Given the description of an element on the screen output the (x, y) to click on. 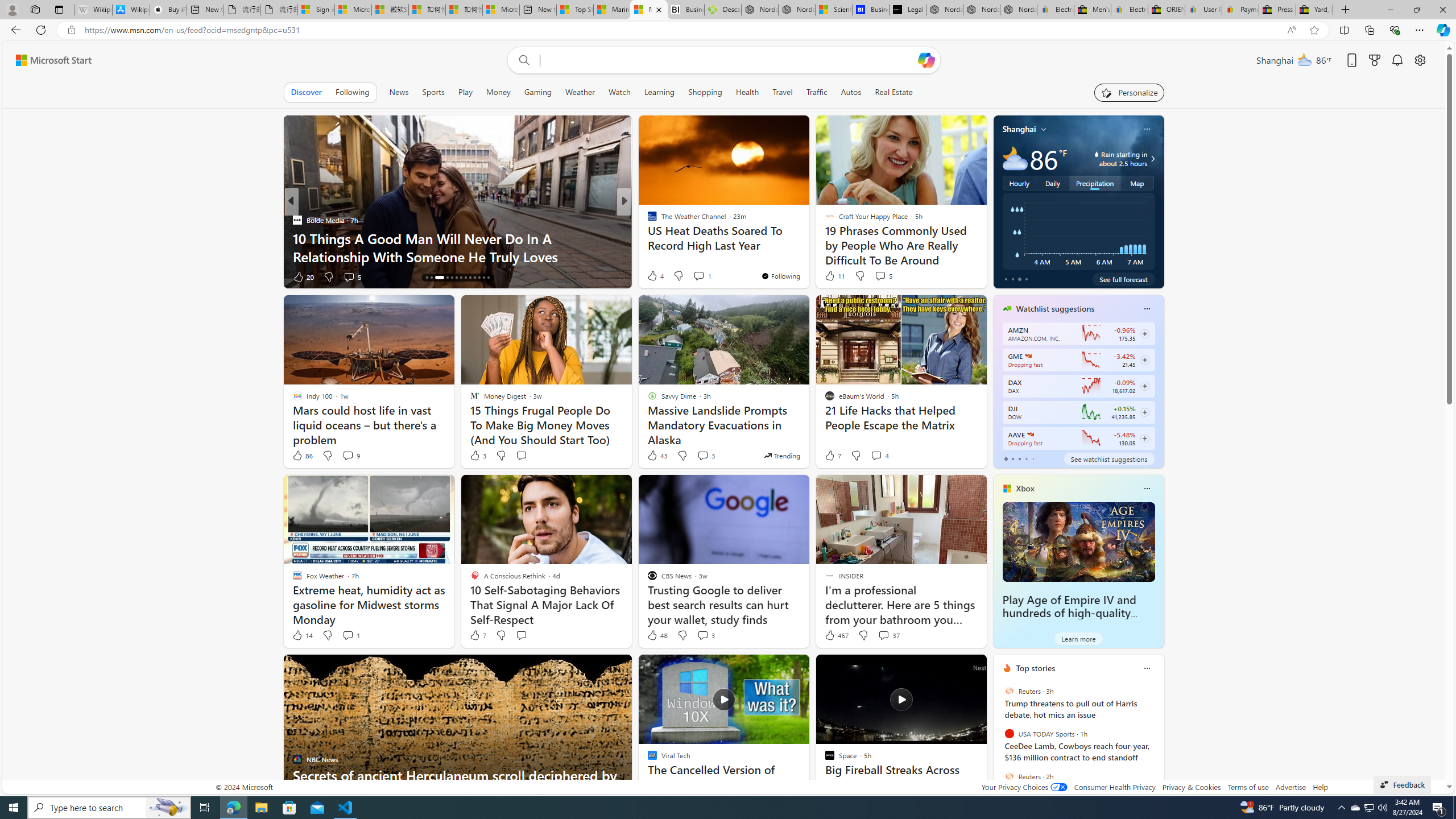
Xbox (1025, 488)
Weather (579, 92)
Mostly cloudy (1014, 158)
next (1158, 741)
38 Like (652, 276)
Autos (851, 92)
AutomationID: tab-23 (474, 277)
View comments 11 Comment (707, 276)
USA TODAY Sports (1008, 733)
